Given the description of an element on the screen output the (x, y) to click on. 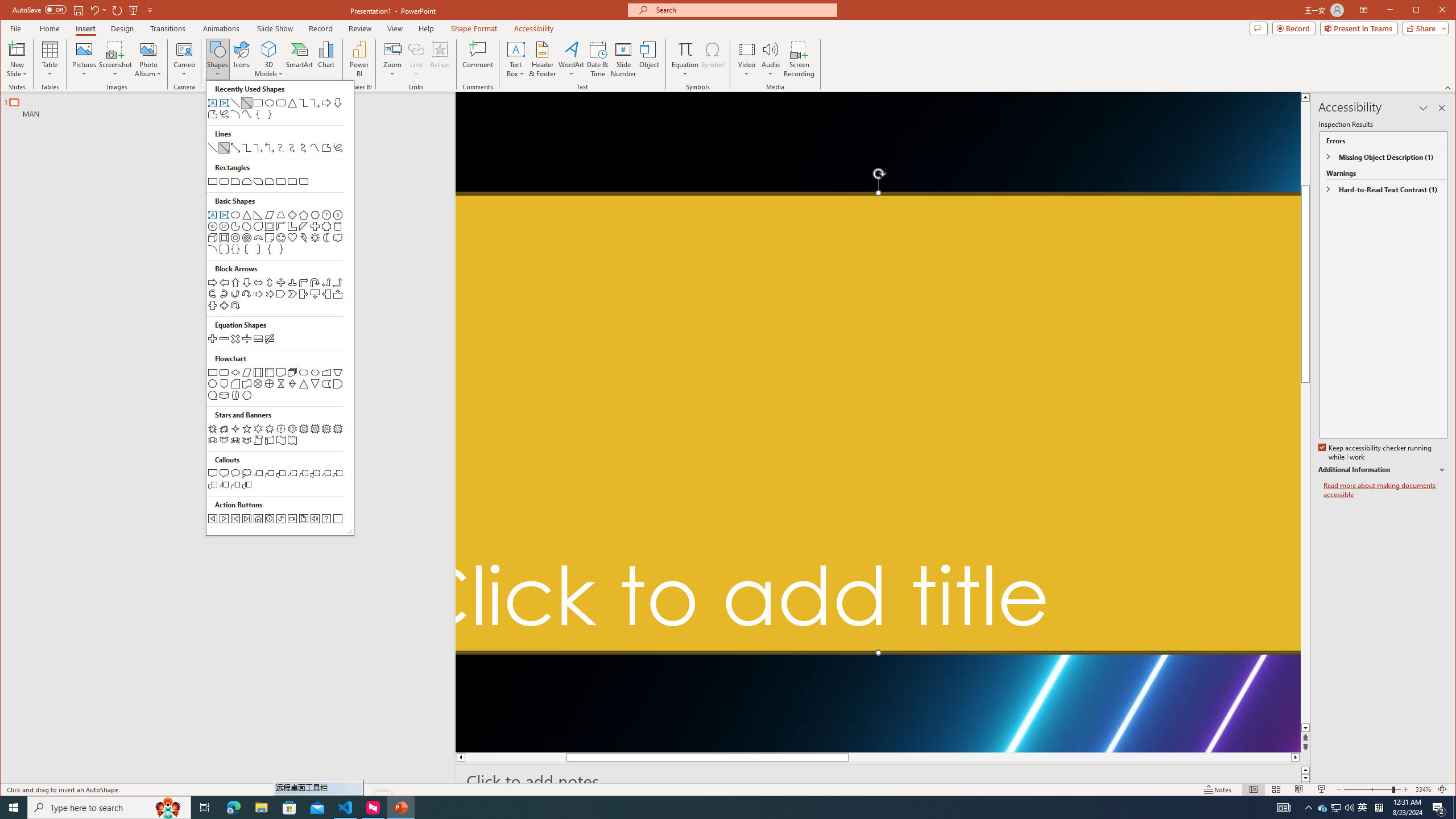
Show desktop (1454, 807)
Symbol... (712, 59)
Screenshot (115, 59)
Object... (649, 59)
Link (416, 59)
Zoom 334% (1362, 807)
Notification Chevron (1422, 789)
Title TextBox (1308, 807)
Slide Notes (877, 422)
Photo Album... (882, 780)
Icons (148, 59)
